Given the description of an element on the screen output the (x, y) to click on. 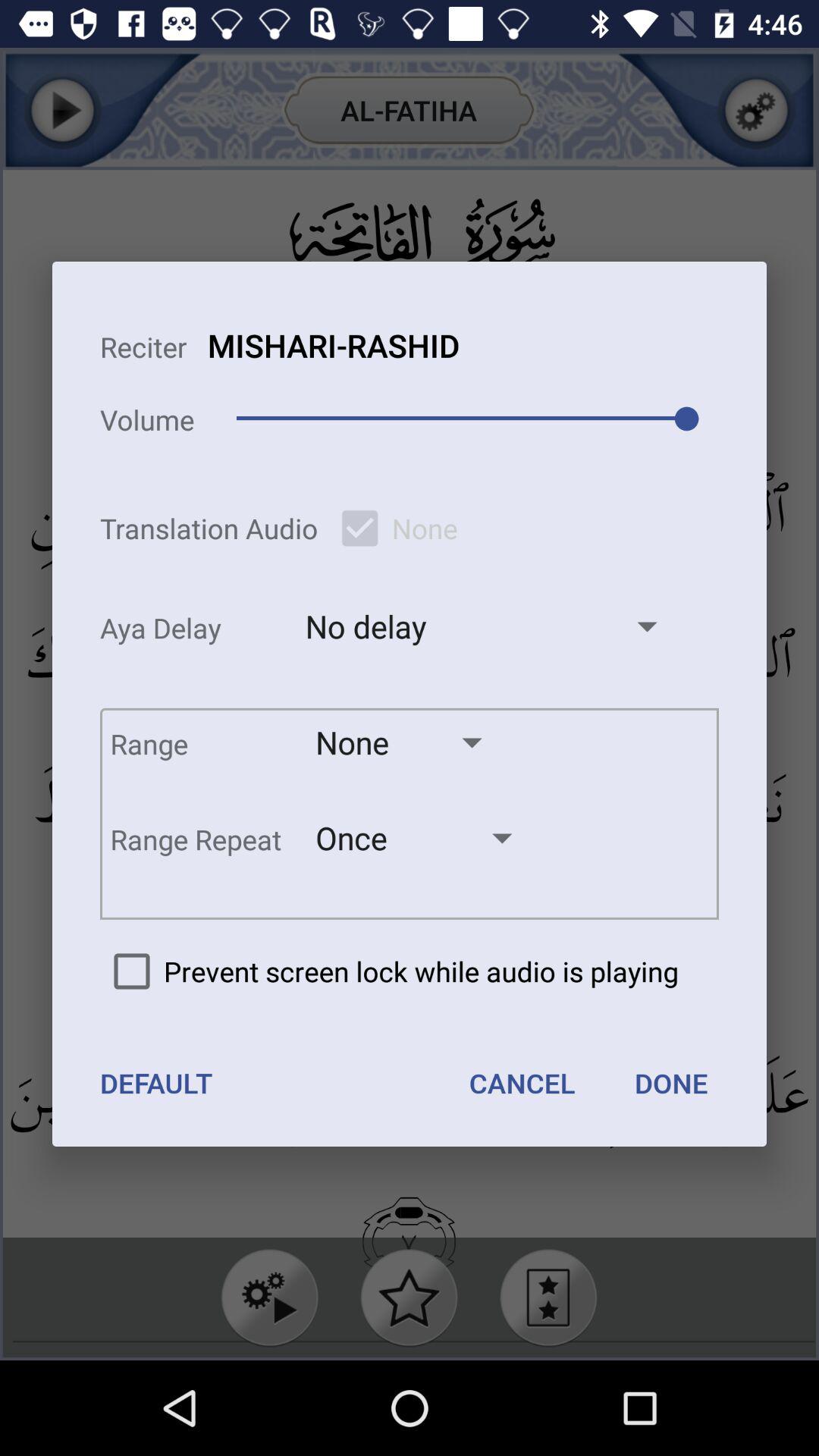
select item to the right of the default icon (522, 1082)
